Given the description of an element on the screen output the (x, y) to click on. 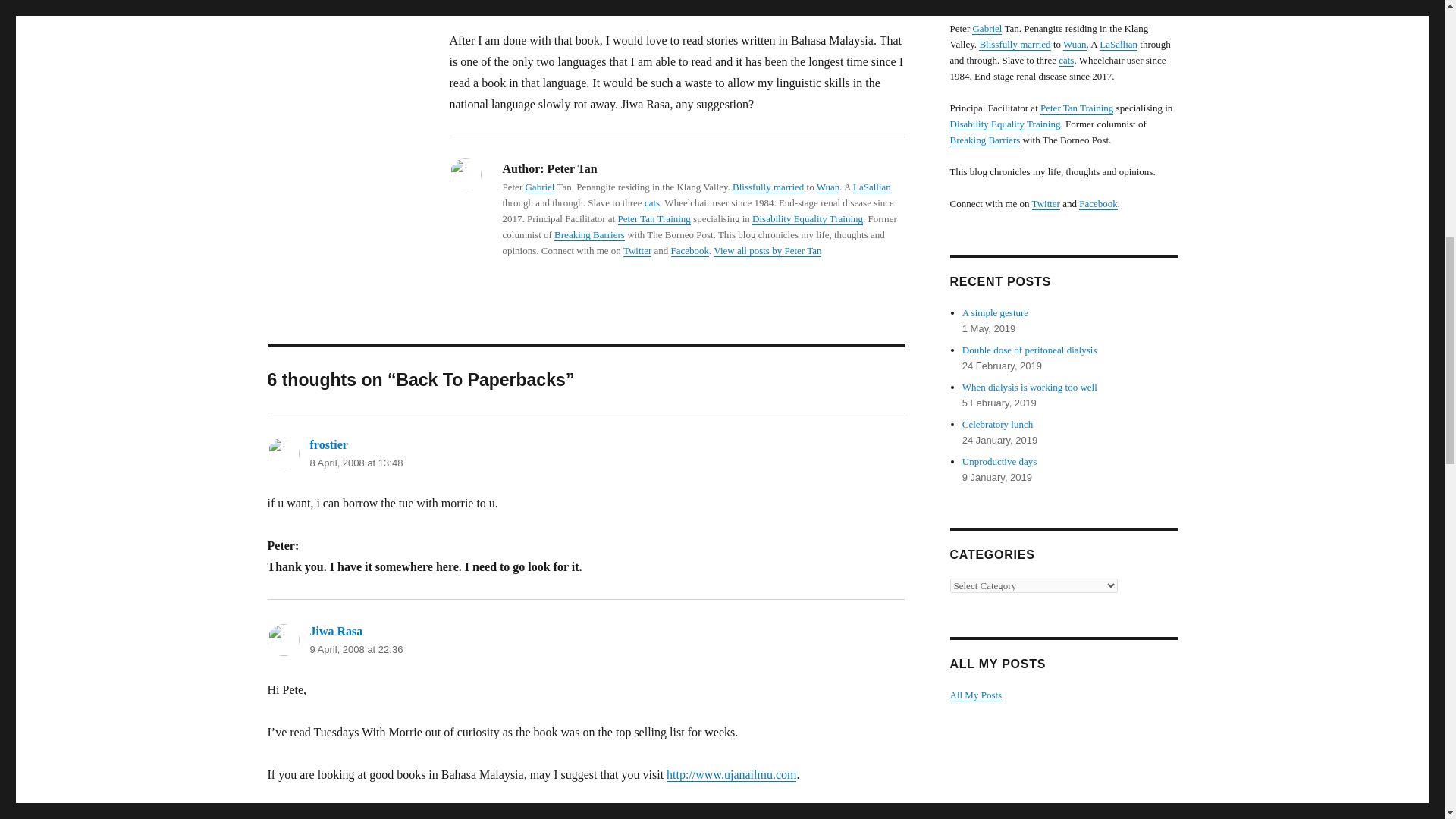
Wuan (828, 186)
Peter Tan Training (653, 218)
Disability Equality Training (807, 218)
8 April, 2008 at 13:48 (355, 462)
Facebook (690, 250)
Blissfully married (767, 186)
Breaking Barriers (589, 234)
Jiwa Rasa (335, 631)
Gabriel (986, 28)
LaSallian (872, 186)
